Given the description of an element on the screen output the (x, y) to click on. 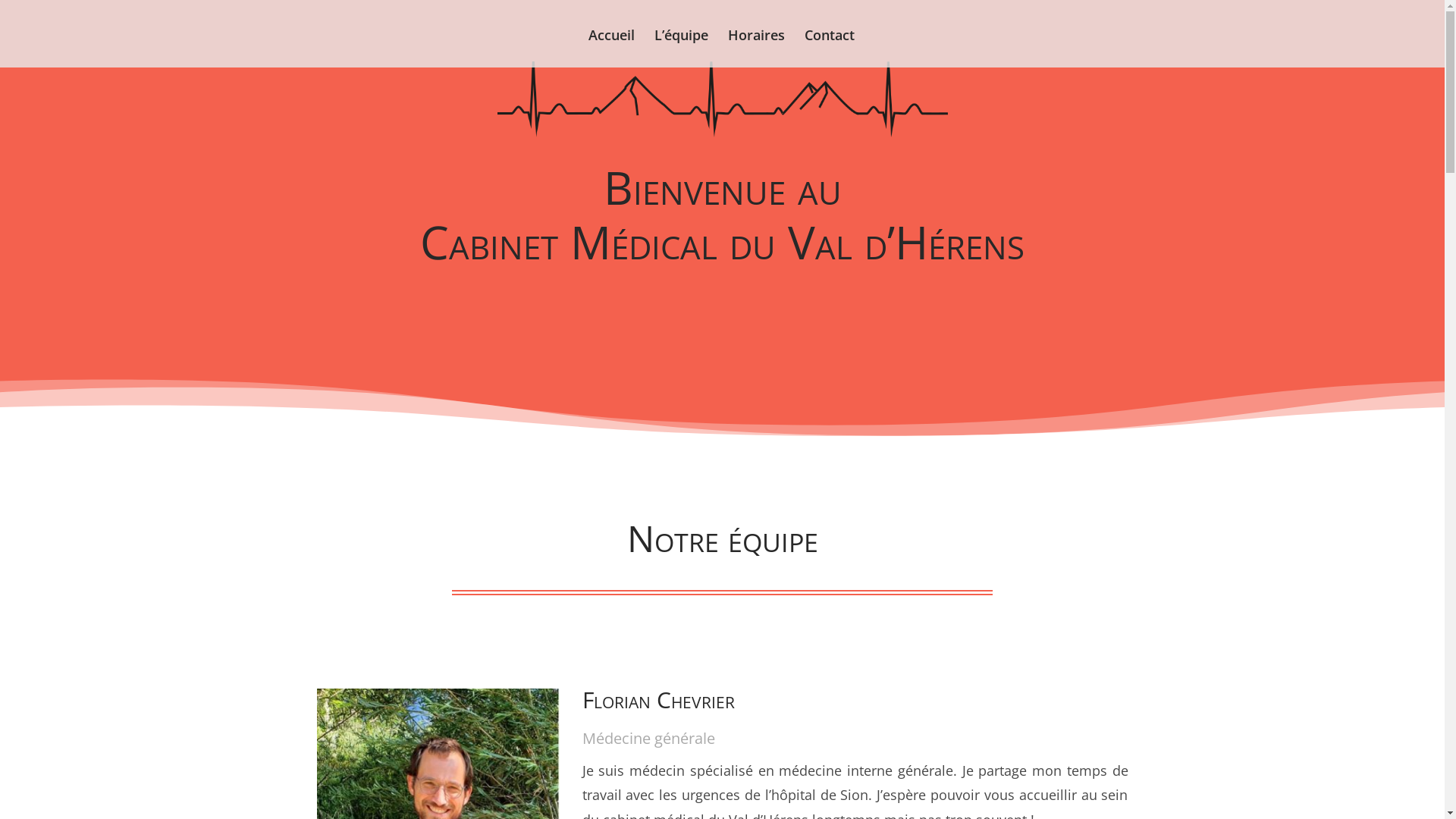
Contact Element type: text (829, 48)
logo_cmvh_1 Element type: hover (722, 99)
Accueil Element type: text (611, 48)
Horaires Element type: text (756, 48)
